Given the description of an element on the screen output the (x, y) to click on. 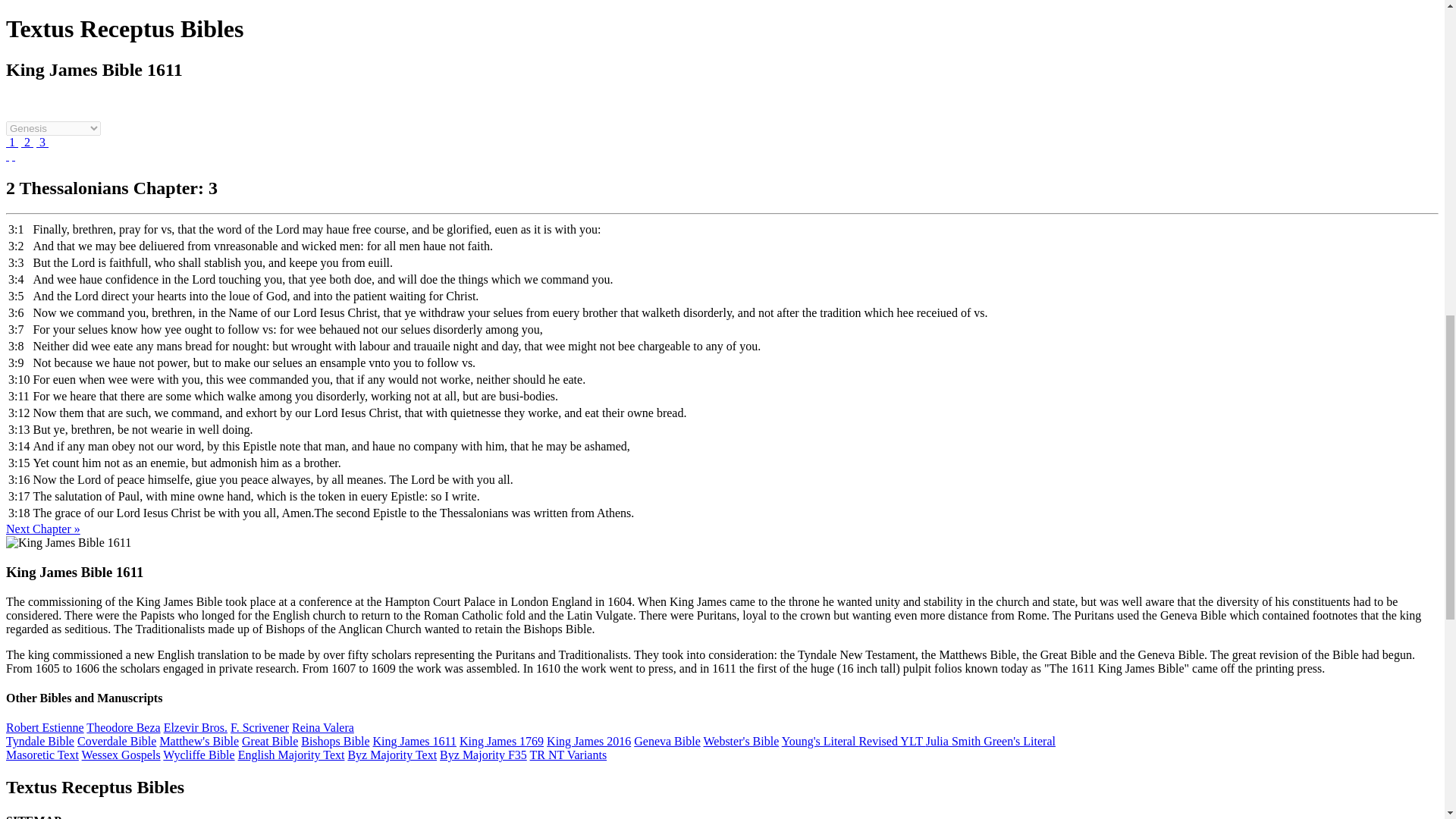
 3  (42, 141)
 2  (27, 141)
 1  (11, 141)
